Given the description of an element on the screen output the (x, y) to click on. 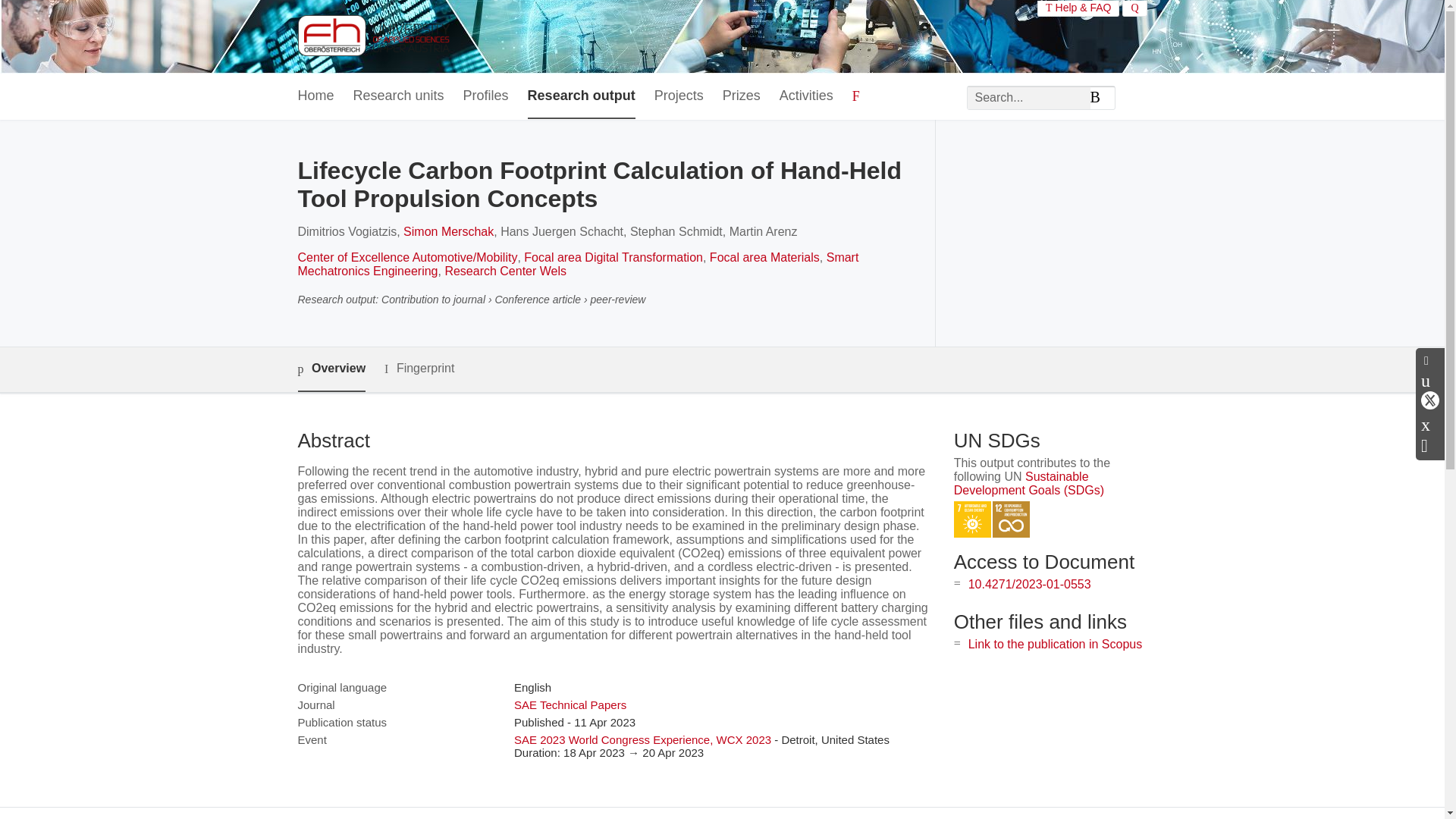
SAE 2023 World Congress Experience, WCX 2023 (642, 739)
Research units (398, 96)
Activities (805, 96)
Focal area Digital Transformation (613, 256)
Profiles (485, 96)
Focal area Materials (764, 256)
SDG 7 - Affordable and Clean Energy (972, 519)
Fingerprint (419, 368)
Link to the publication in Scopus (1054, 644)
Smart Mechatronics Engineering (578, 263)
Projects (678, 96)
Research Center Wels (505, 270)
SDG 12 - Responsible Consumption and Production (1010, 519)
Simon Merschak (448, 231)
